Given the description of an element on the screen output the (x, y) to click on. 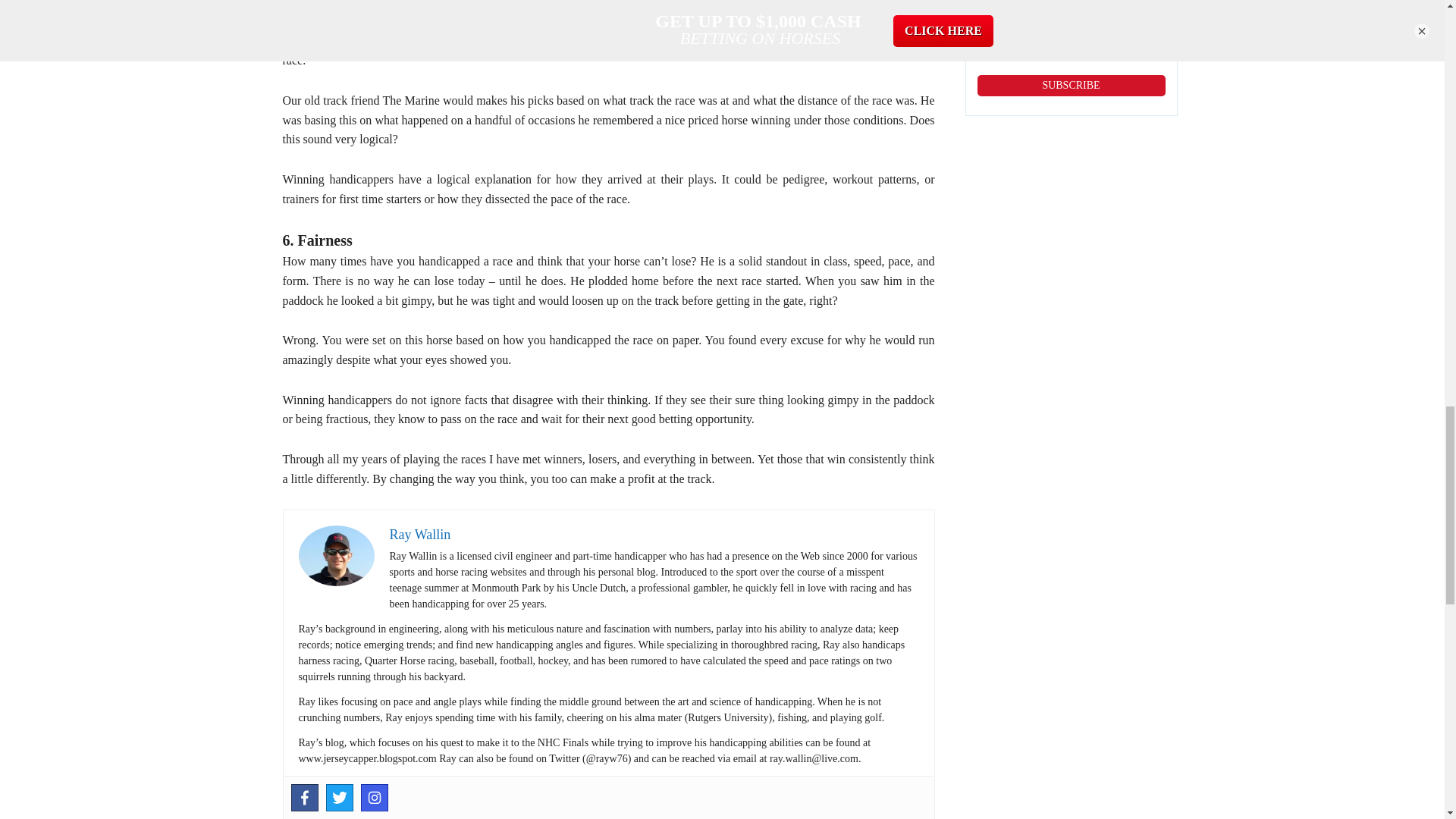
Subscribe (1070, 85)
